Given the description of an element on the screen output the (x, y) to click on. 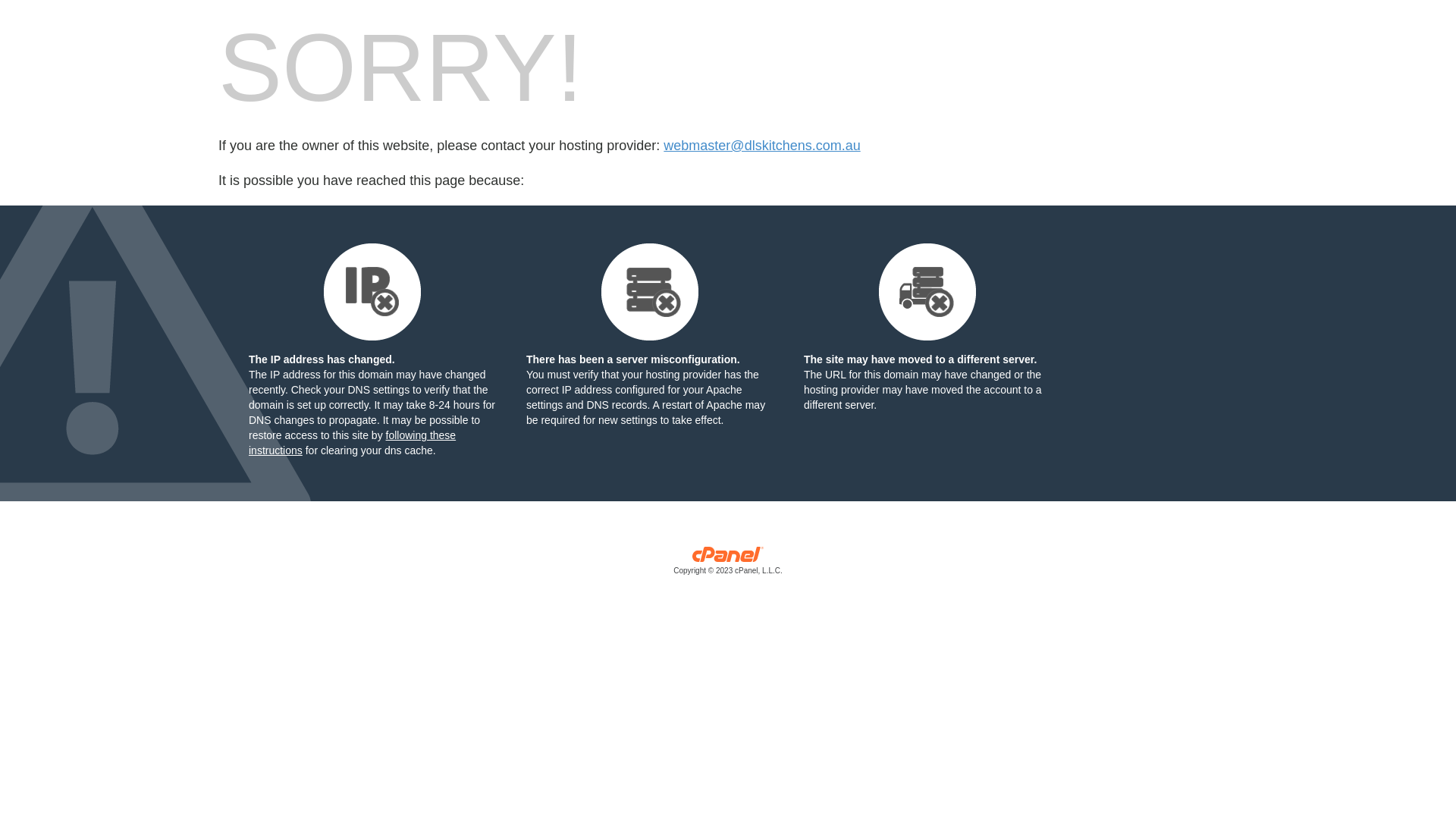
following these instructions Element type: text (351, 442)
webmaster@dlskitchens.com.au Element type: text (761, 145)
